Given the description of an element on the screen output the (x, y) to click on. 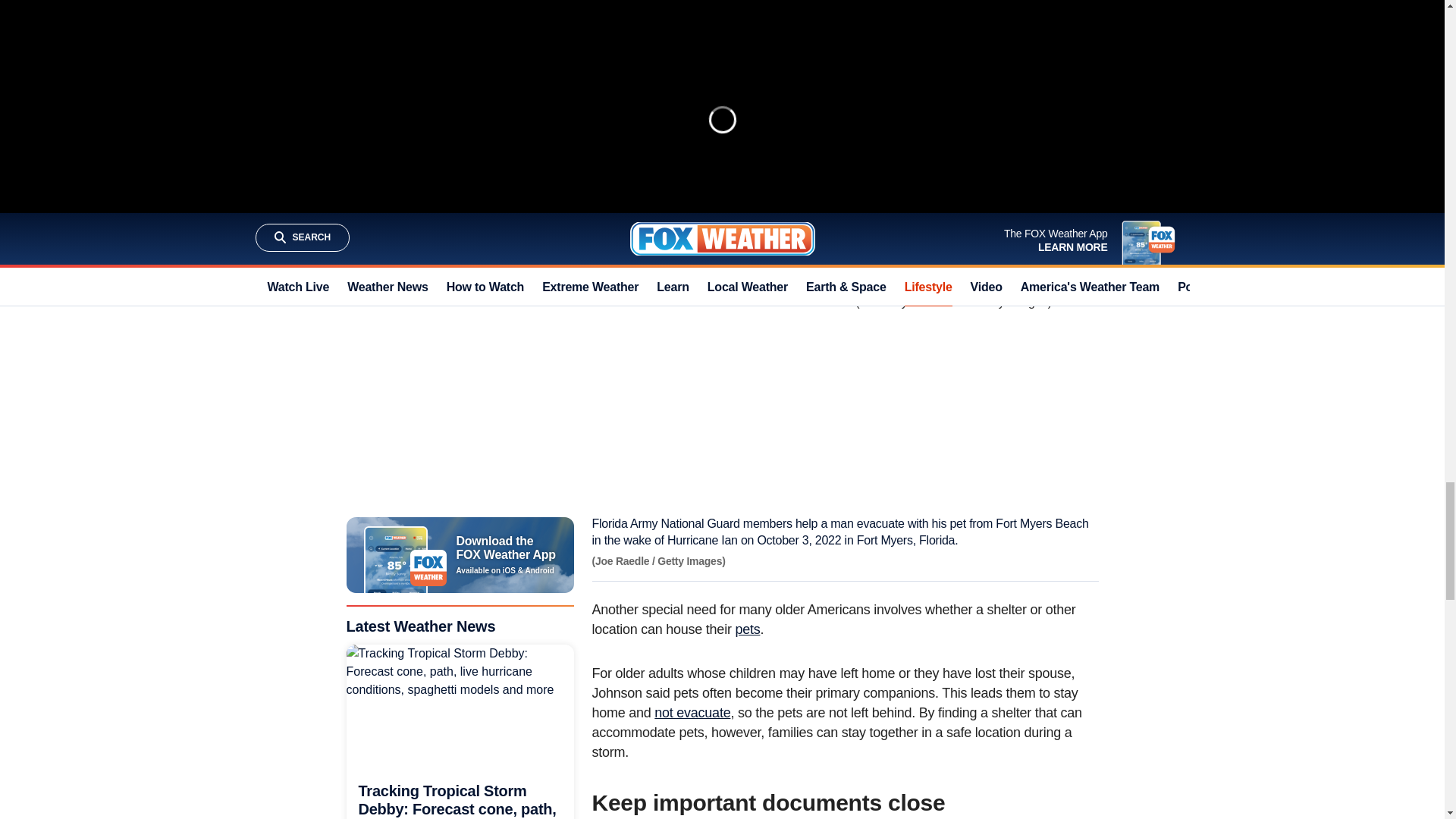
not evacuate (691, 712)
pets (747, 629)
